Given the description of an element on the screen output the (x, y) to click on. 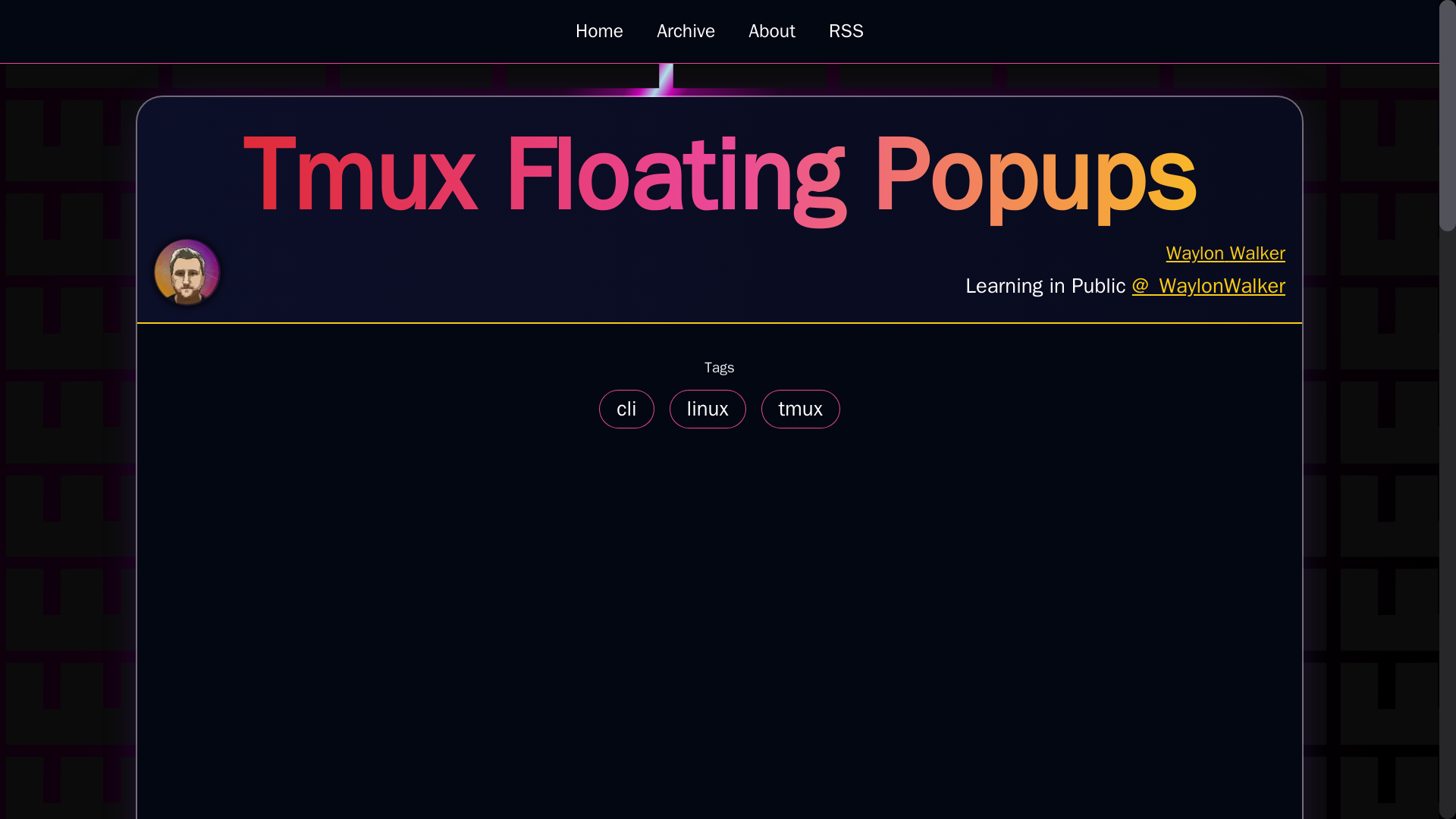
About (771, 30)
Waylon Walker (1125, 252)
Archive (685, 30)
linux (708, 408)
Home (599, 30)
RSS (800, 408)
